Given the description of an element on the screen output the (x, y) to click on. 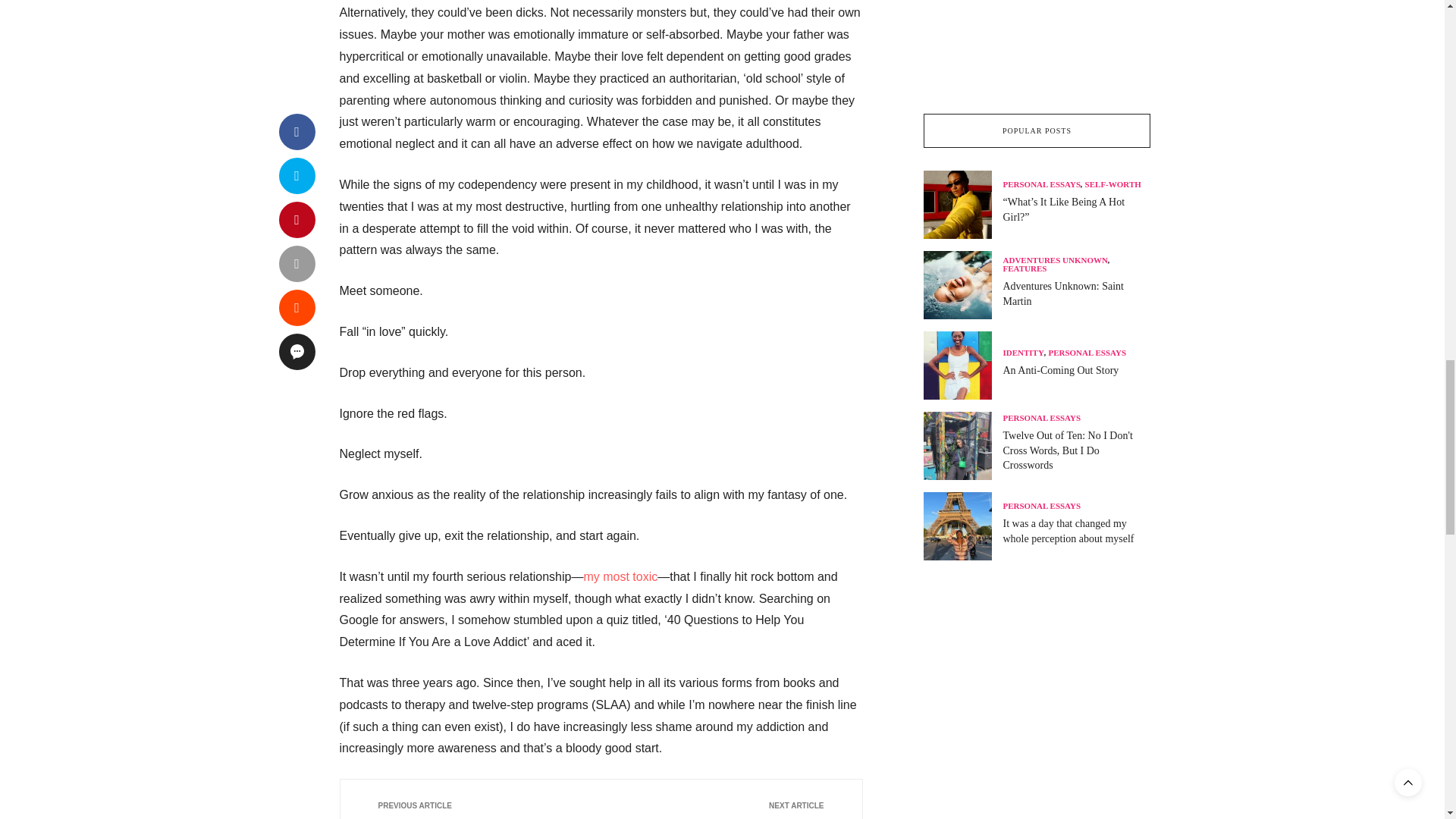
my most toxic (620, 576)
